Given the description of an element on the screen output the (x, y) to click on. 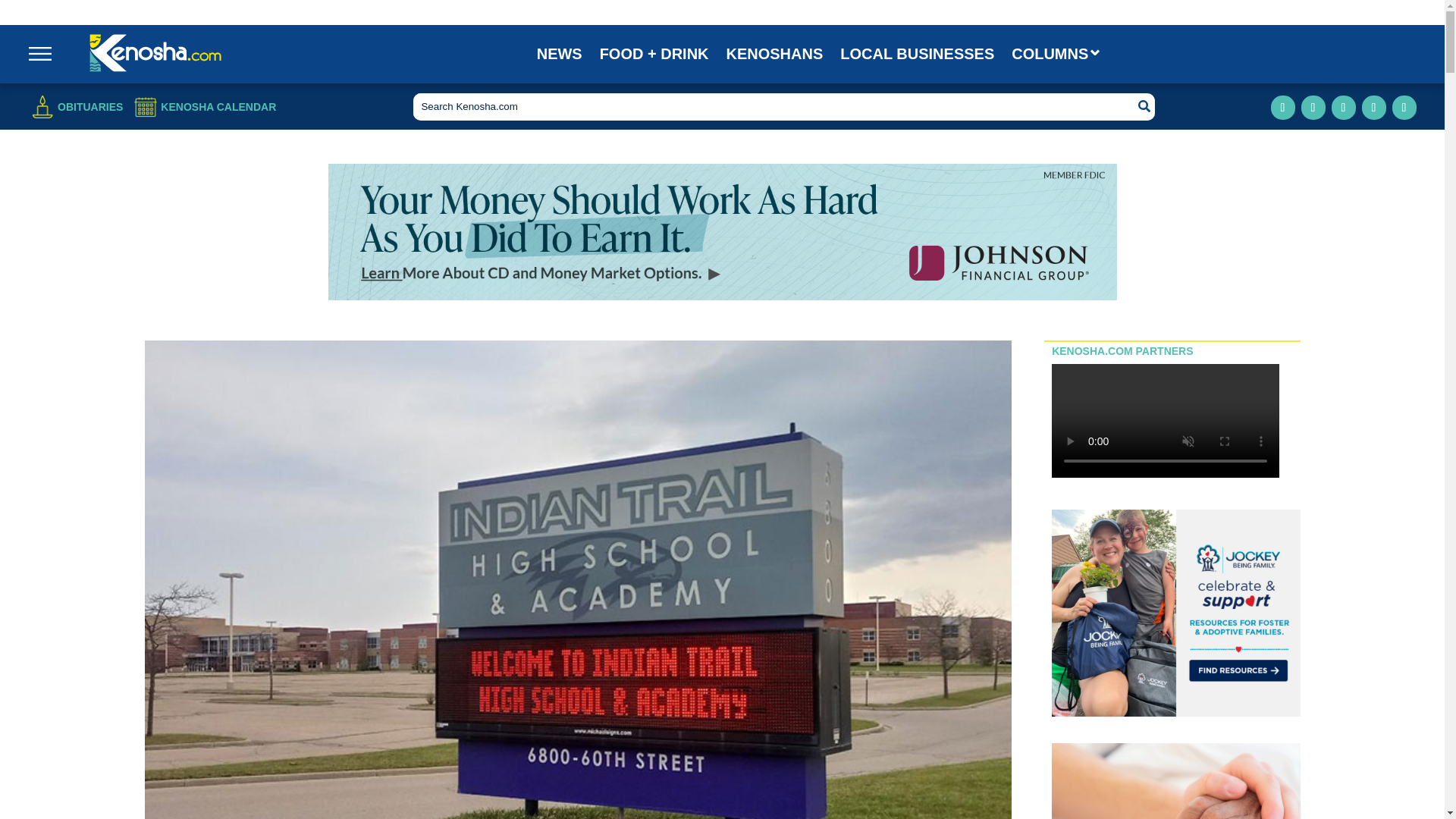
Follow on LinkedIn (1343, 107)
Follow on Spotify (1403, 107)
Follow on Facebook (1283, 107)
Follow on Instagram (1312, 107)
Follow on X (1373, 107)
